Given the description of an element on the screen output the (x, y) to click on. 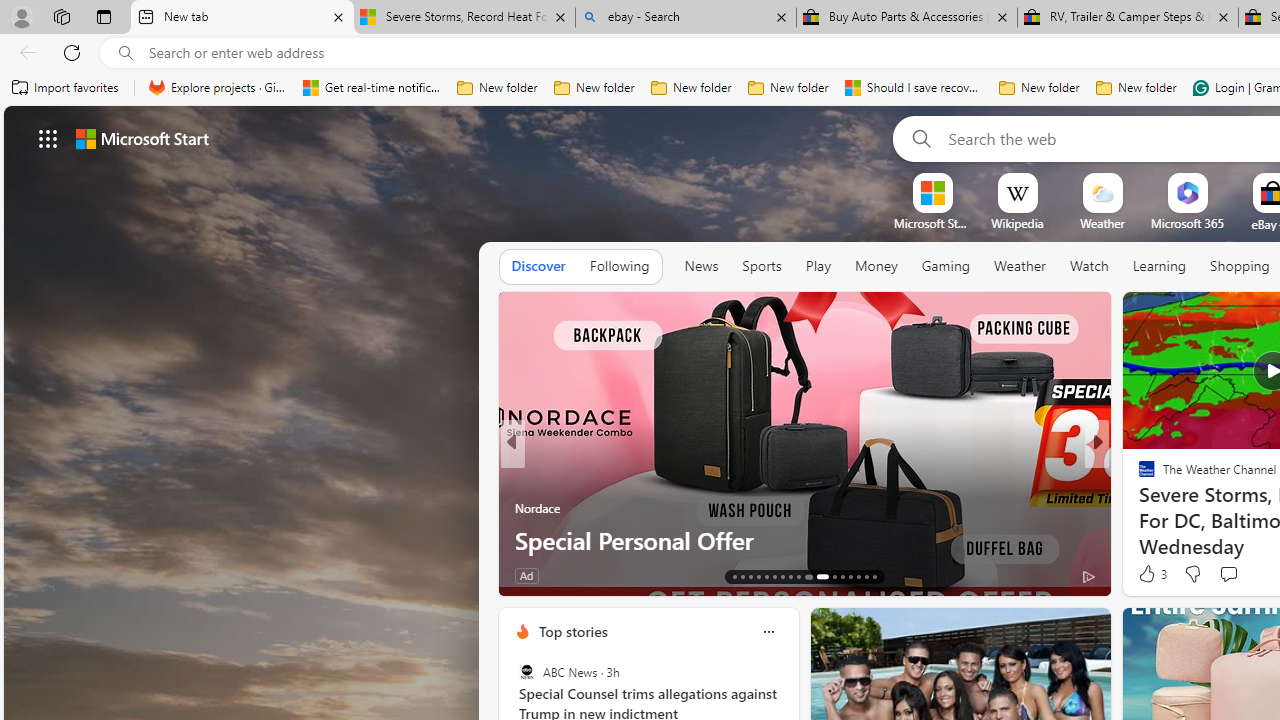
AutomationID: tab-21 (797, 576)
Refresh (72, 52)
32 Like (1149, 574)
